Given the description of an element on the screen output the (x, y) to click on. 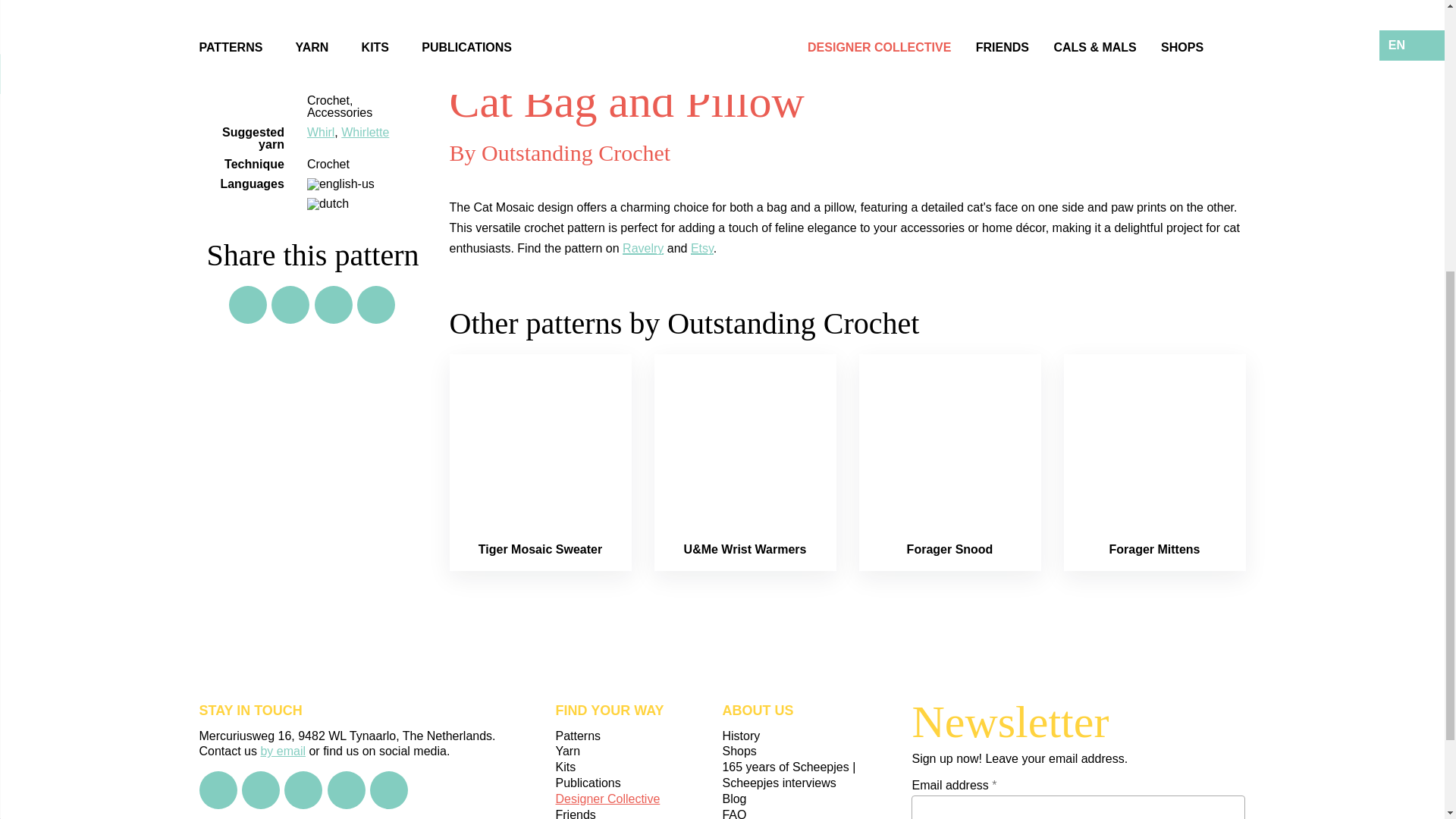
Tiger Mosaic Sweater (540, 549)
Whirlette (364, 132)
Shops (805, 751)
Publications (638, 783)
Whirl (320, 132)
Facebook share (289, 304)
Tiger Mosaic Sweater (540, 549)
Patterns (638, 736)
Kits (638, 767)
Ravelry (643, 247)
